Given the description of an element on the screen output the (x, y) to click on. 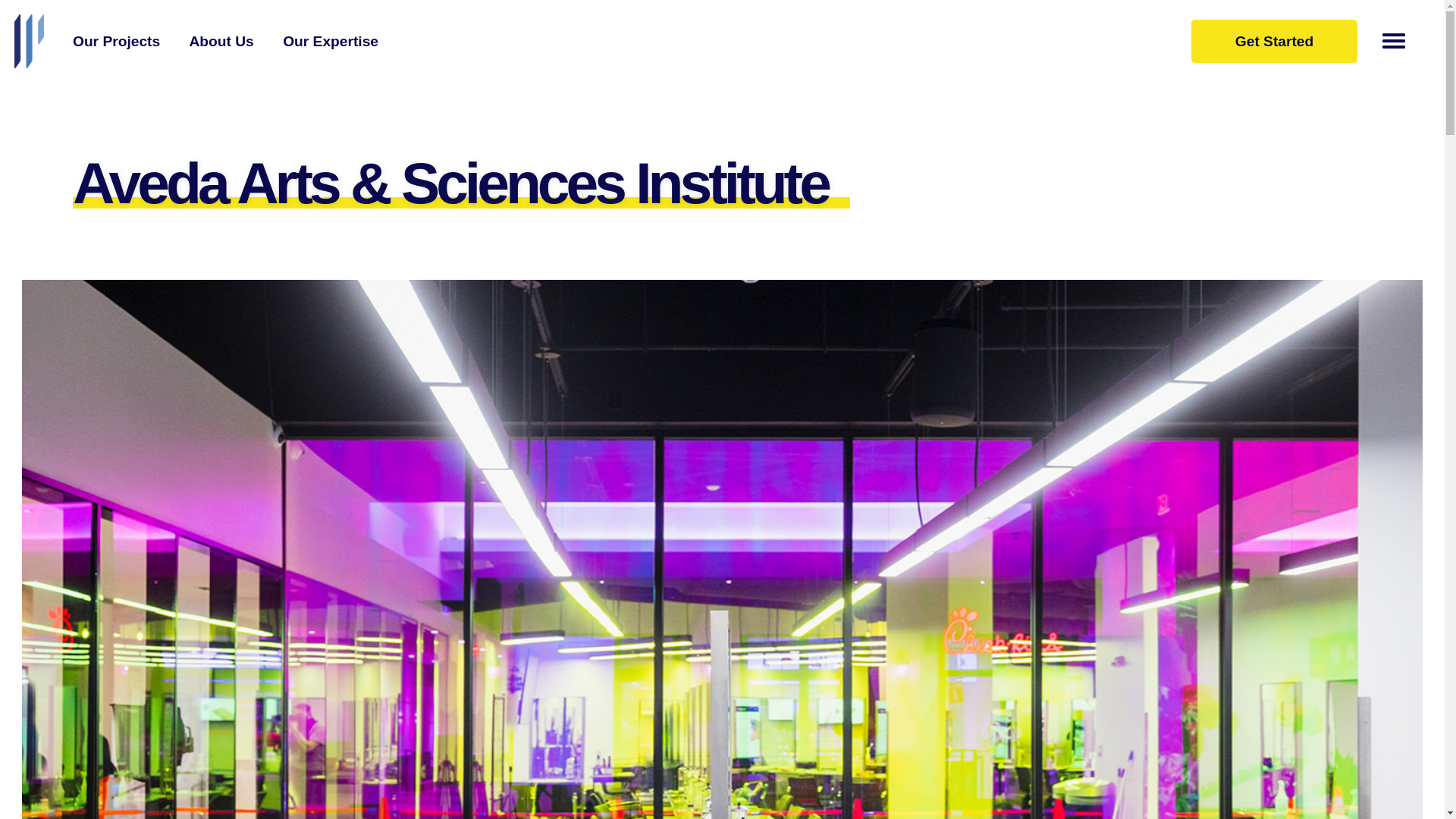
Our Projects (116, 40)
About Us (221, 40)
Our Expertise (330, 40)
